Given the description of an element on the screen output the (x, y) to click on. 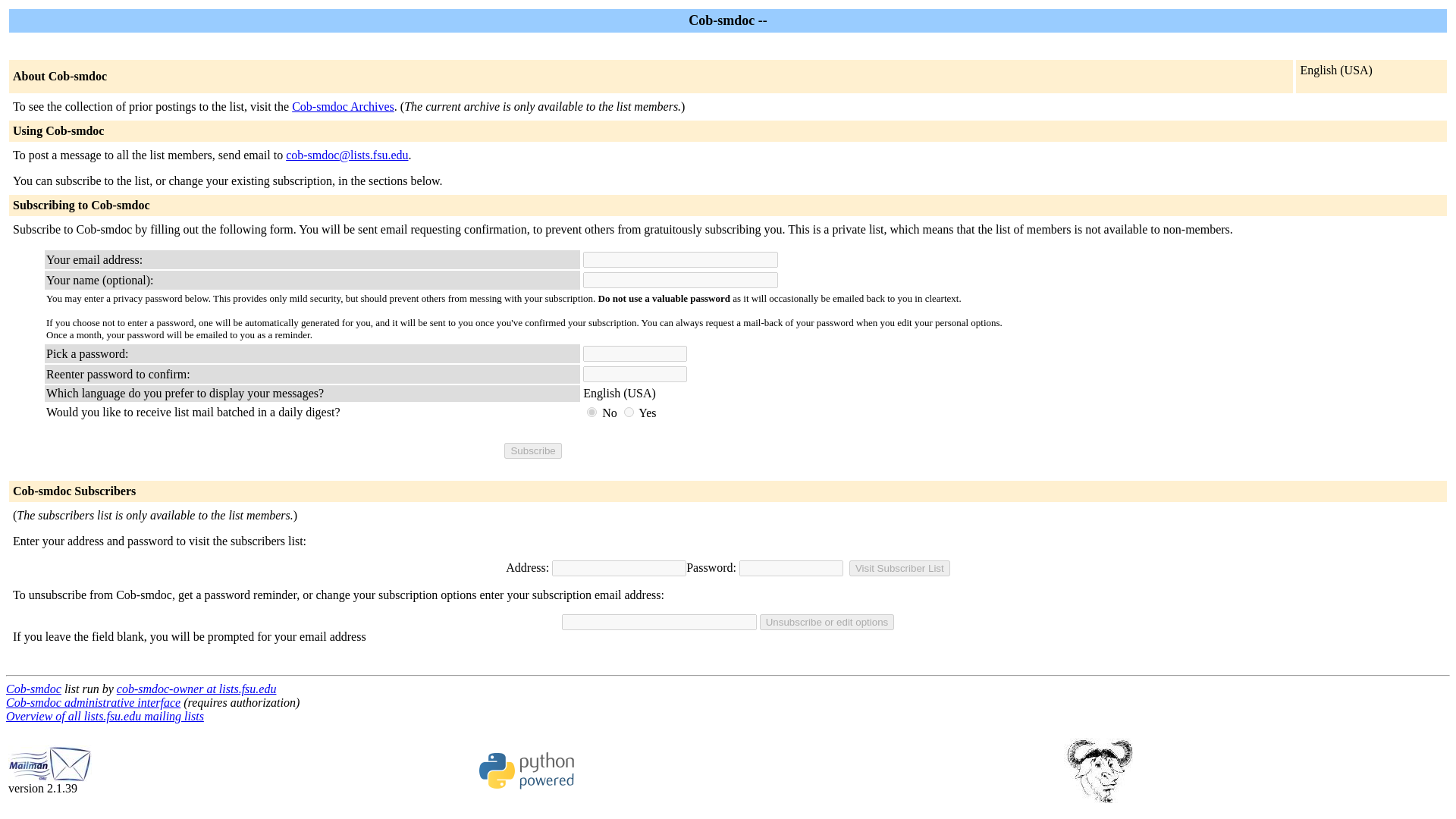
Cob-smdoc (33, 688)
Visit Subscriber List (899, 568)
Overview of all lists.fsu.edu mailing lists (104, 716)
cob-smdoc-owner at lists.fsu.edu (196, 688)
Cob-smdoc Subscribers (74, 490)
1 (628, 411)
Cob-smdoc administrative interface (92, 702)
Cob-smdoc Archives (343, 106)
Unsubscribe or edit options (827, 621)
Subscribe (531, 450)
0 (591, 411)
